Given the description of an element on the screen output the (x, y) to click on. 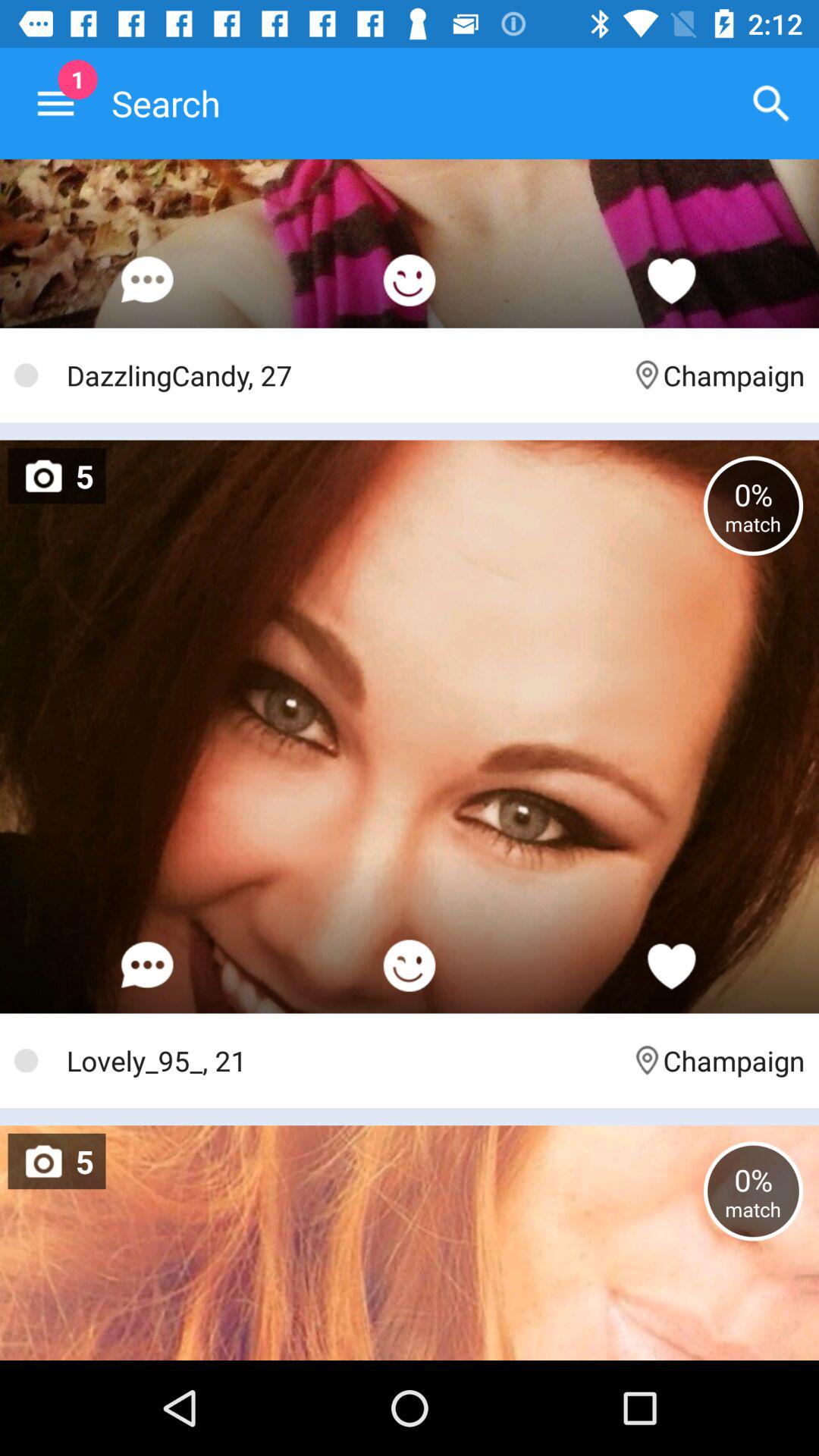
open the icon next to the champaign (341, 375)
